Given the description of an element on the screen output the (x, y) to click on. 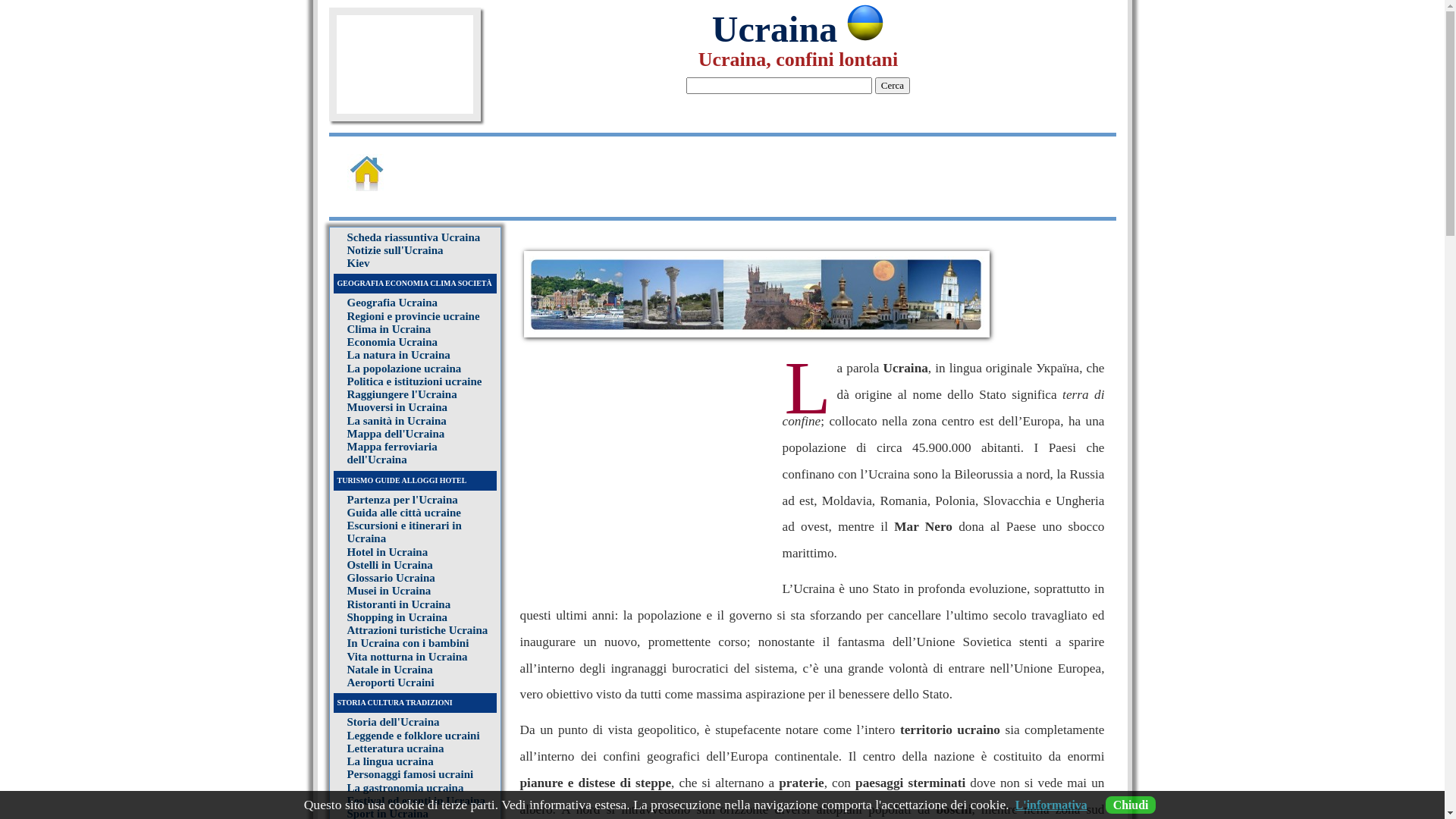
Raggiungere l'Ucraina Element type: text (402, 394)
Scheda riassuntiva Ucraina Element type: text (413, 236)
Mappa ferroviaria dell'Ucraina Element type: text (392, 452)
Natale in Ucraina Element type: text (390, 669)
Attrazioni turistiche Ucraina Element type: text (417, 630)
Clima in Ucraina Element type: text (389, 329)
Storia dell'Ucraina Element type: text (393, 721)
In Ucraina con i bambini Element type: text (408, 643)
Escursioni e itinerari in Ucraina Element type: text (404, 531)
Letteratura ucraina Element type: text (395, 748)
Personaggi famosi ucraini Element type: text (410, 774)
Leggende e folklore ucraini Element type: text (413, 735)
La natura in Ucraina Element type: text (398, 354)
Festival ed eventi in Ucraina Element type: text (416, 800)
Shopping in Ucraina Element type: text (397, 617)
Cerca Element type: text (892, 85)
Kiev Element type: text (358, 263)
Partenza per l'Ucraina Element type: text (402, 498)
Geografia Ucraina Element type: text (392, 302)
Politica e istituzioni ucraine Element type: text (414, 381)
La lingua ucraina Element type: text (390, 761)
Ostelli in Ucraina Element type: text (390, 564)
Ucraina Element type: text (798, 29)
La popolazione ucraina Element type: text (404, 368)
Musei in Ucraina Element type: text (389, 590)
Glossario Ucraina Element type: text (391, 577)
Chiudi Element type: text (1130, 804)
   Element type: text (388, 186)
Economia Ucraina Element type: text (392, 341)
Muoversi in Ucraina Element type: text (397, 407)
Hotel in Ucraina Element type: text (387, 552)
Ristoranti in Ucraina Element type: text (399, 603)
La gastronomia ucraina Element type: text (405, 787)
Vita notturna in Ucraina Element type: text (407, 656)
L'informativa Element type: text (1051, 804)
Mappa dell'Ucraina Element type: text (396, 433)
Aeroporti Ucraini Element type: text (390, 682)
Regioni e provincie ucraine Element type: text (413, 315)
Notizie sull'Ucraina Element type: text (395, 250)
